Given the description of an element on the screen output the (x, y) to click on. 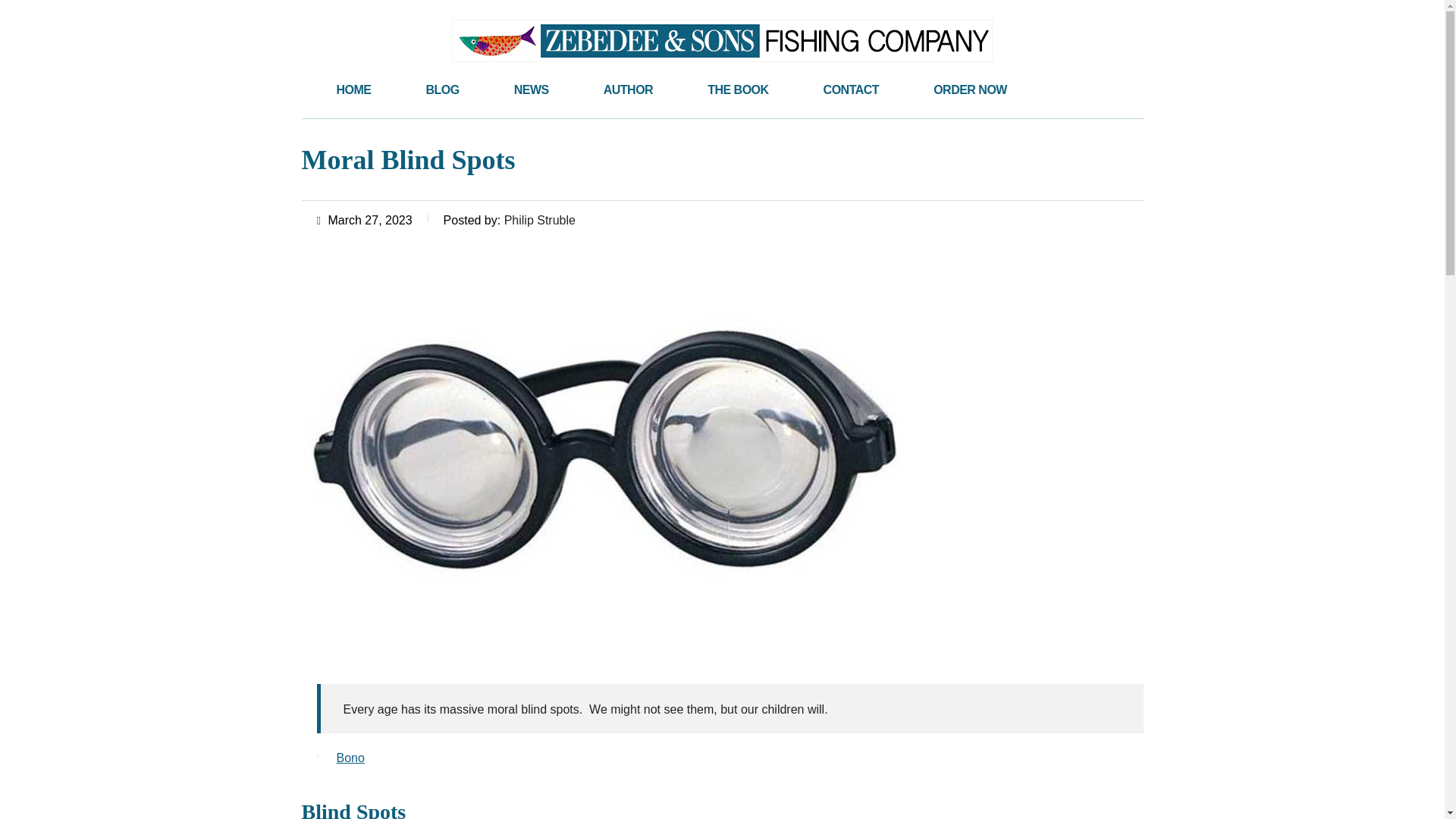
THE BOOK (737, 89)
ORDER NOW (970, 89)
HOME (354, 89)
CONTACT (851, 89)
BLOG (442, 89)
Bono (350, 757)
NEWS (532, 89)
AUTHOR (627, 89)
